Given the description of an element on the screen output the (x, y) to click on. 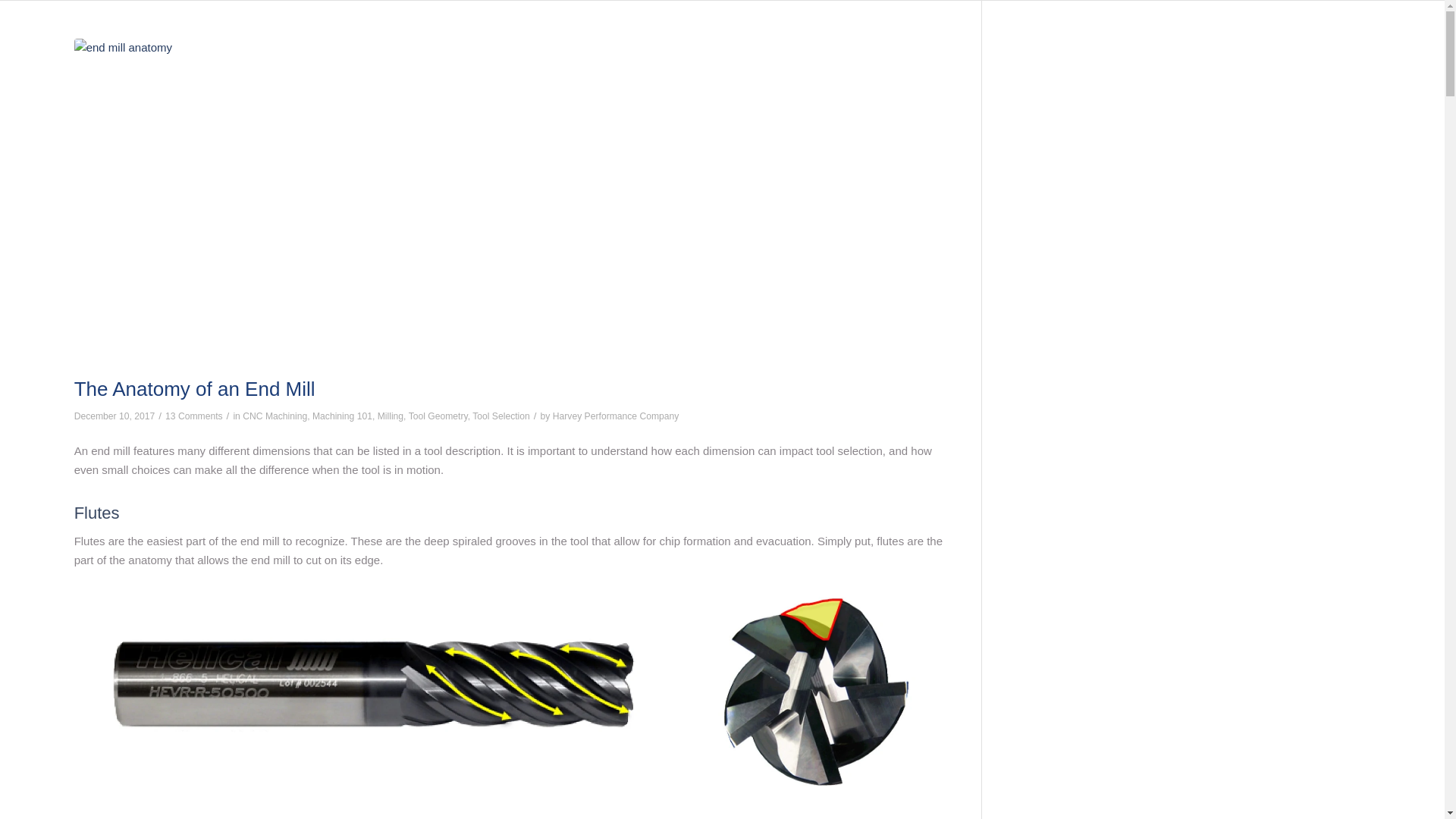
Milling (390, 416)
Tool Geometry (438, 416)
Harvey Performance Company (616, 416)
Tool Selection (500, 416)
13 Comments (193, 416)
CNC Machining (275, 416)
Posts by Harvey Performance Company (616, 416)
Machining 101 (342, 416)
